Given the description of an element on the screen output the (x, y) to click on. 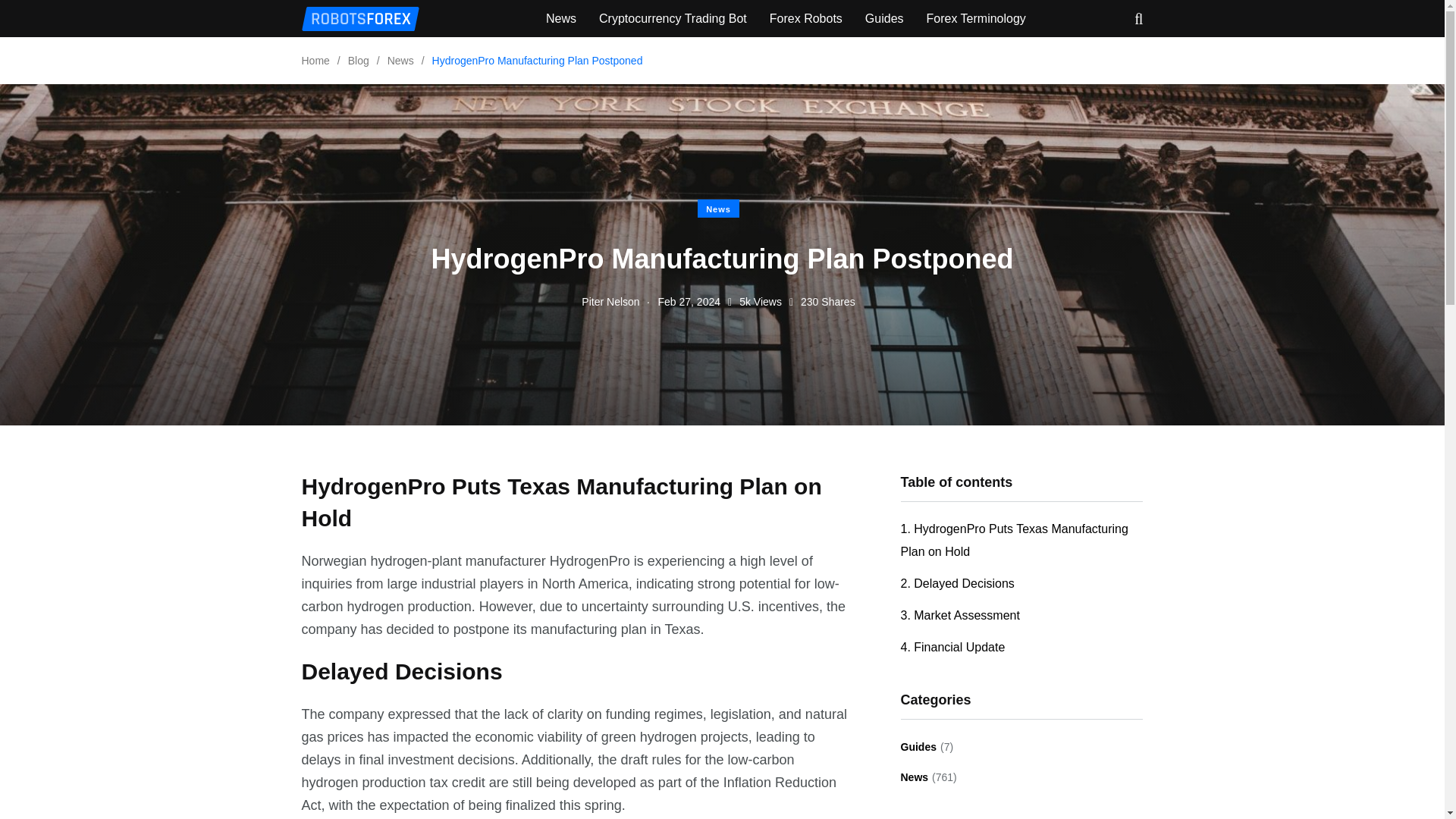
Guides (884, 18)
News (914, 777)
Blog (358, 60)
News (718, 208)
3. Market Assessment (960, 615)
1. HydrogenPro Puts Texas Manufacturing Plan on Hold (1014, 540)
2. Delayed Decisions (957, 583)
News (400, 60)
Cryptocurrency Trading Bot (672, 18)
4. Financial Update (953, 647)
News (561, 18)
Forex Terminology (976, 18)
Home (315, 60)
Guides (918, 747)
Forex Robots (806, 18)
